Given the description of an element on the screen output the (x, y) to click on. 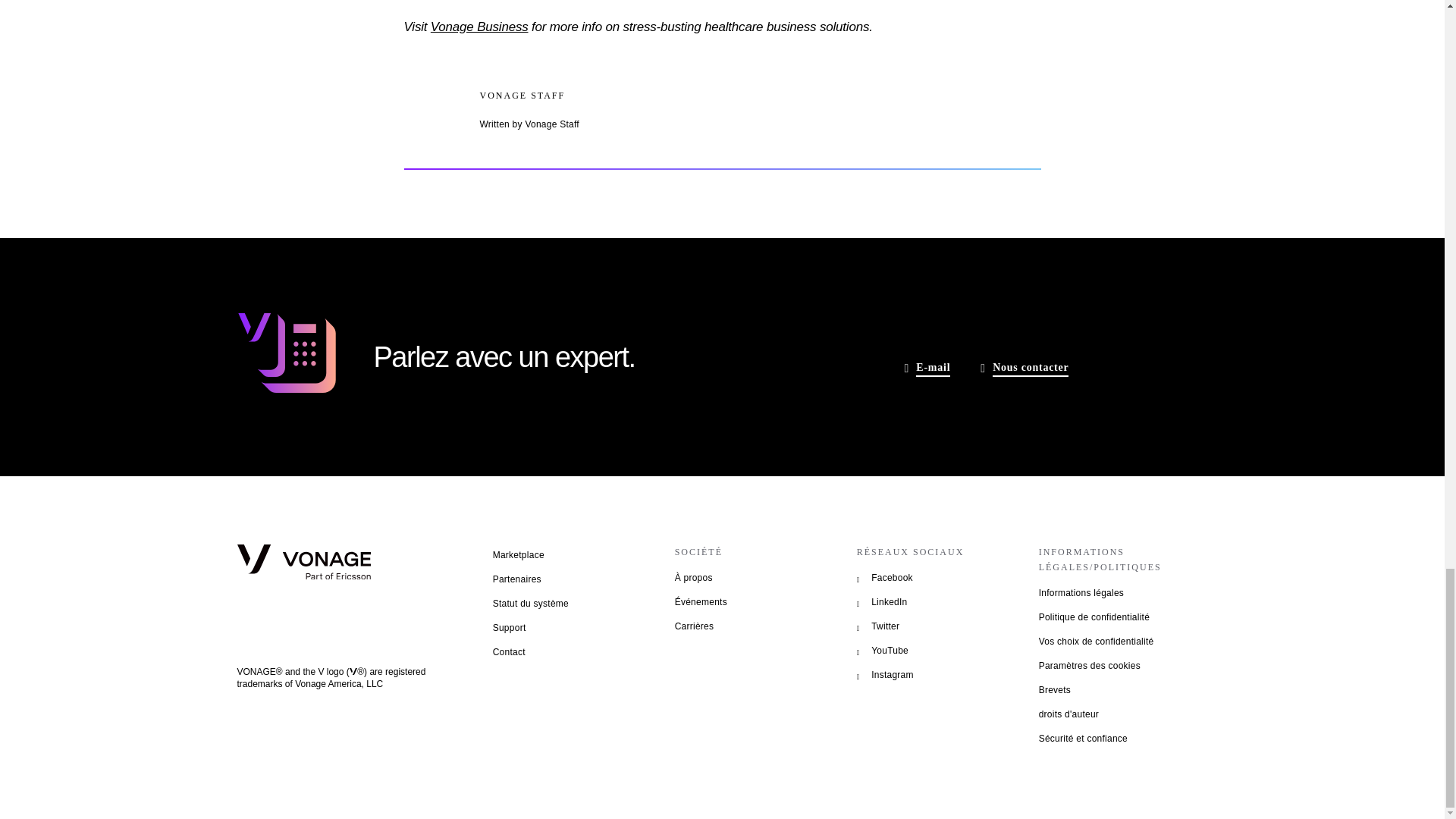
Vonage Phone (284, 355)
